Given the description of an element on the screen output the (x, y) to click on. 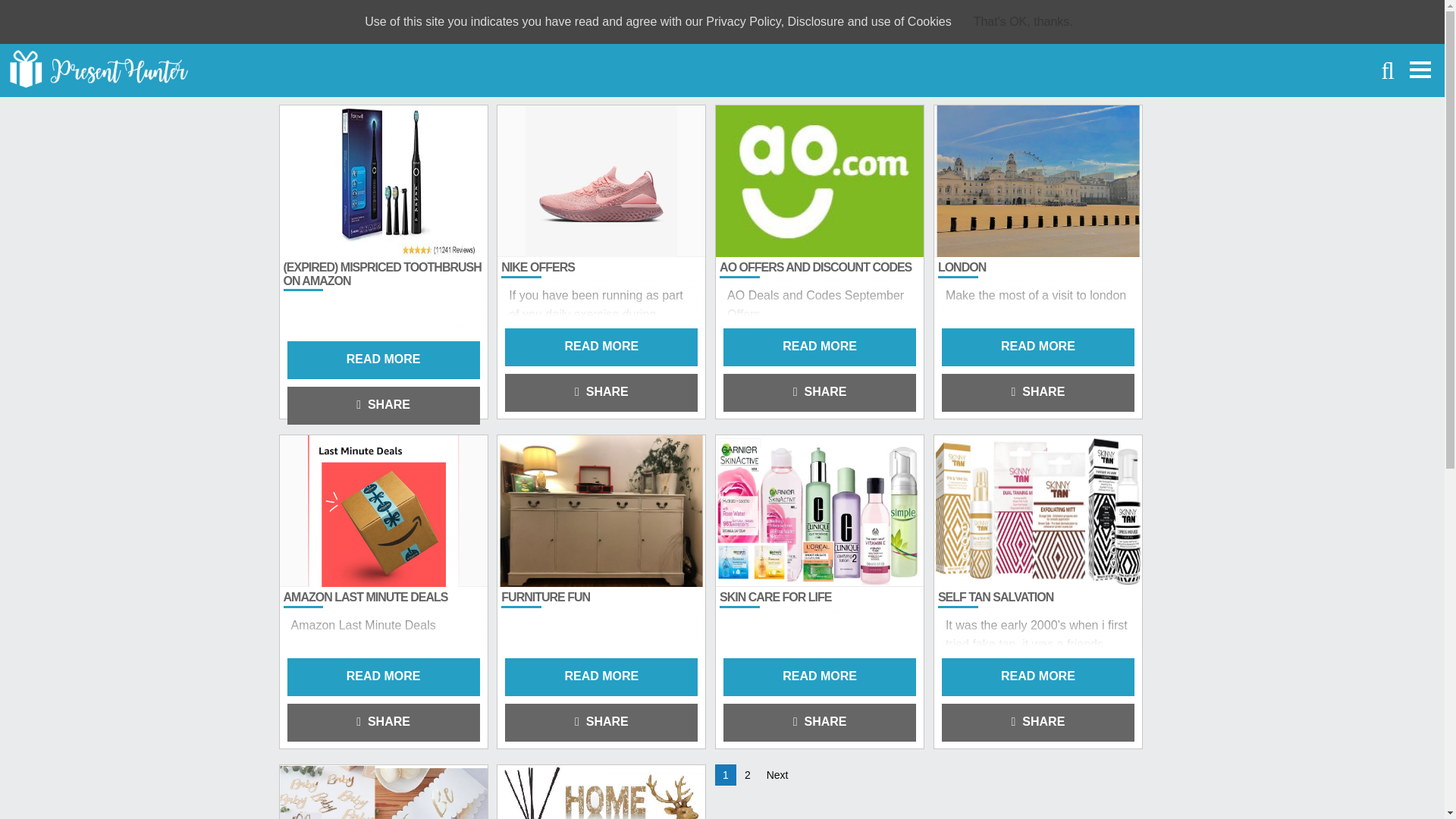
Nike Offers (537, 267)
LONDON (961, 267)
  SHARE (1038, 722)
READ MORE (819, 347)
NIKE OFFERS (537, 267)
READ MORE (1038, 677)
  SHARE (819, 392)
  SHARE (382, 405)
READ MORE (382, 677)
  SHARE (601, 722)
FURNITURE FUN (544, 596)
READ MORE (601, 677)
London (961, 267)
AO Offers and Discount Codes (815, 267)
Skin Care for Life (775, 596)
